Given the description of an element on the screen output the (x, y) to click on. 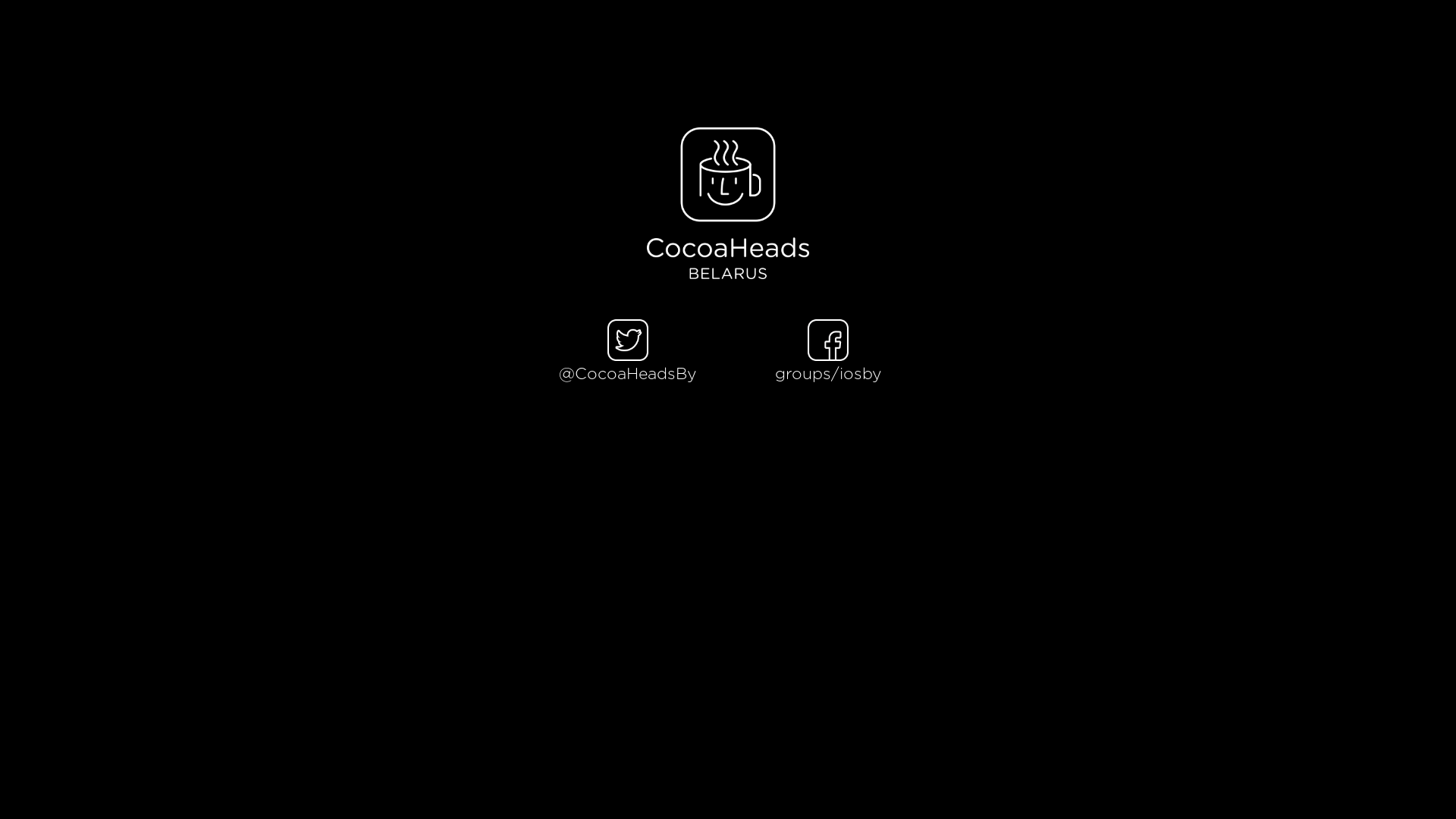
groups/iosby Element type: text (828, 366)
@CocoaHeadsBy Element type: text (627, 366)
